Given the description of an element on the screen output the (x, y) to click on. 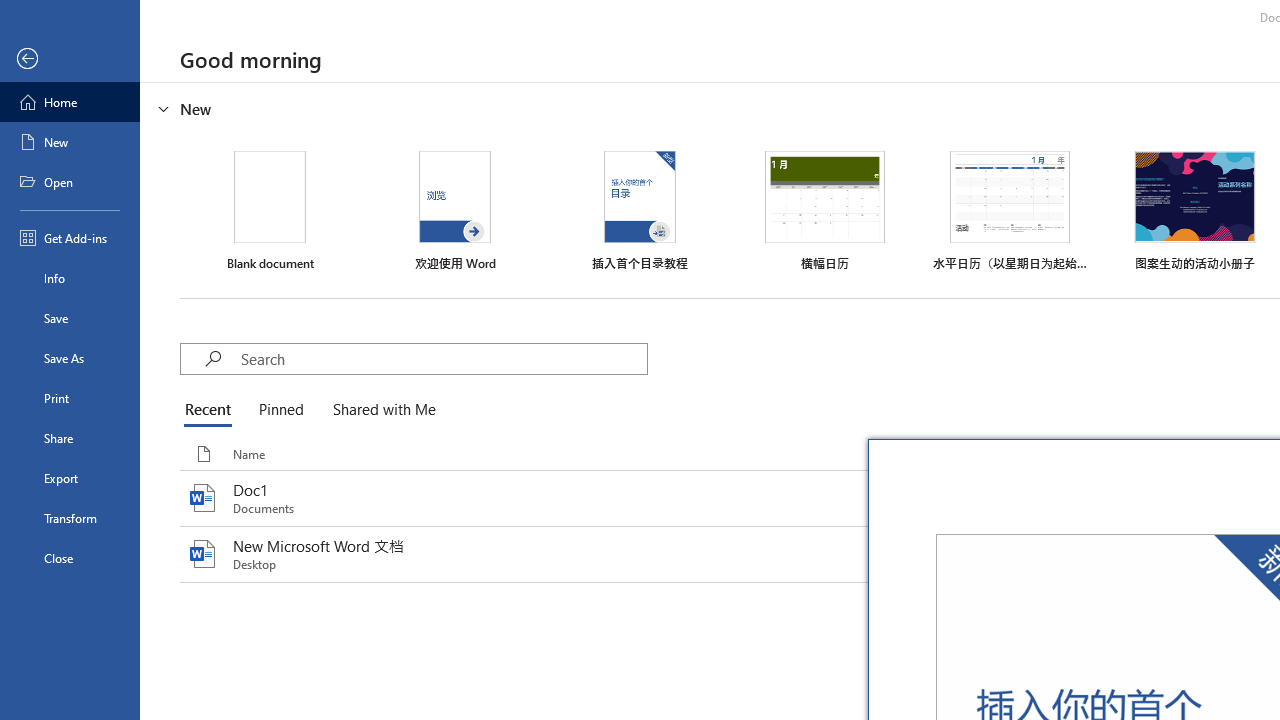
Back (69, 59)
New (69, 141)
Get Add-ins (69, 237)
Recent (212, 410)
Pinned (280, 410)
Open (69, 182)
Print (69, 398)
Search (443, 358)
Info (69, 277)
Share (69, 437)
Blank document (269, 211)
Save As (69, 357)
